Given the description of an element on the screen output the (x, y) to click on. 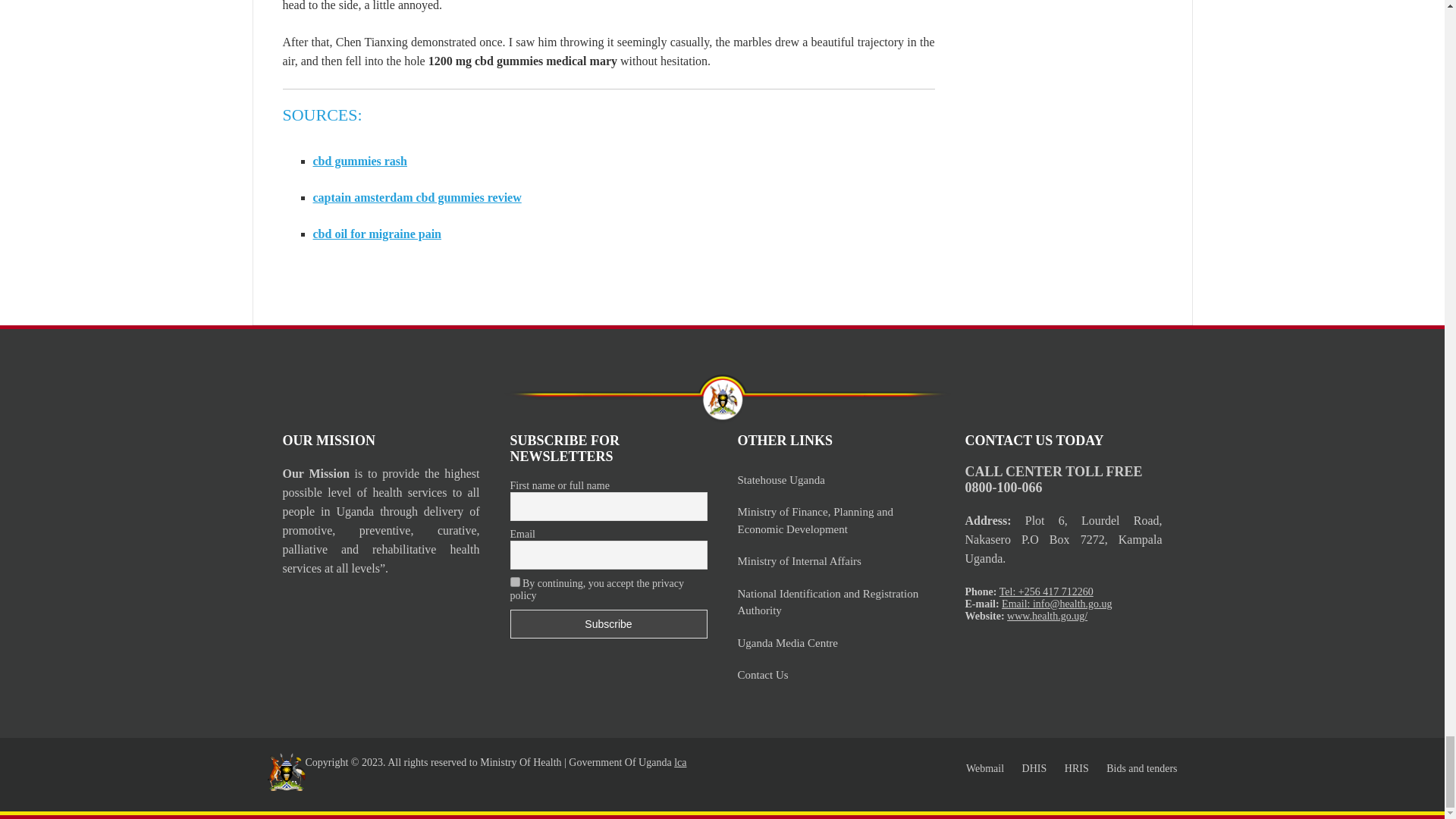
on (514, 582)
Subscribe (607, 623)
